Given the description of an element on the screen output the (x, y) to click on. 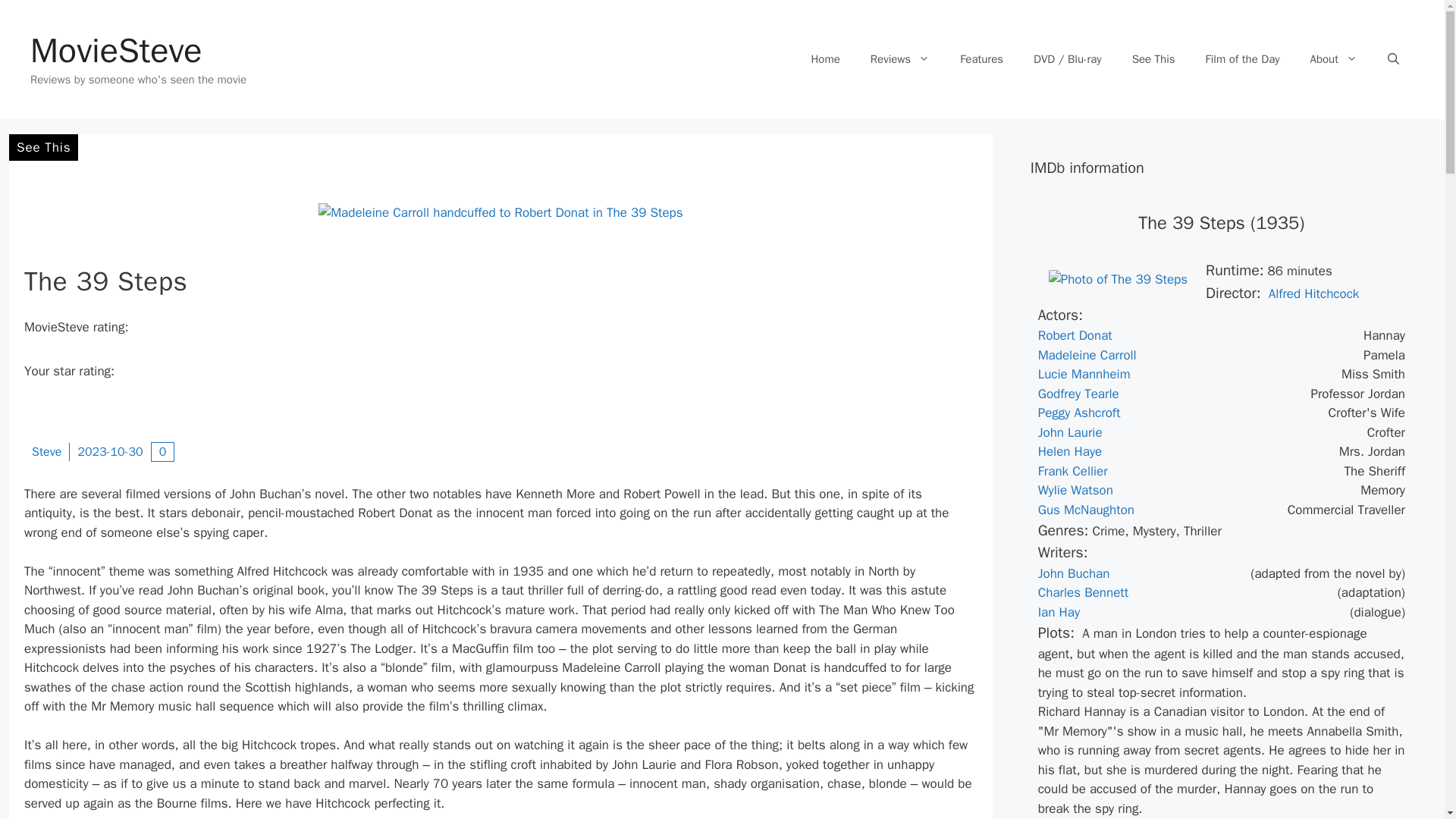
The 39 Steps (1118, 278)
open a new window with IMDb informations (1073, 471)
open a new window with IMDb informations (1084, 374)
open a new window with IMDb informations (1086, 509)
Reviews (900, 58)
open a new window with IMDb informations (1073, 573)
Madeleine Carroll (1087, 355)
Features (980, 58)
open a new window with IMDb informations (1087, 355)
open a new window with IMDb informations (1070, 451)
